Given the description of an element on the screen output the (x, y) to click on. 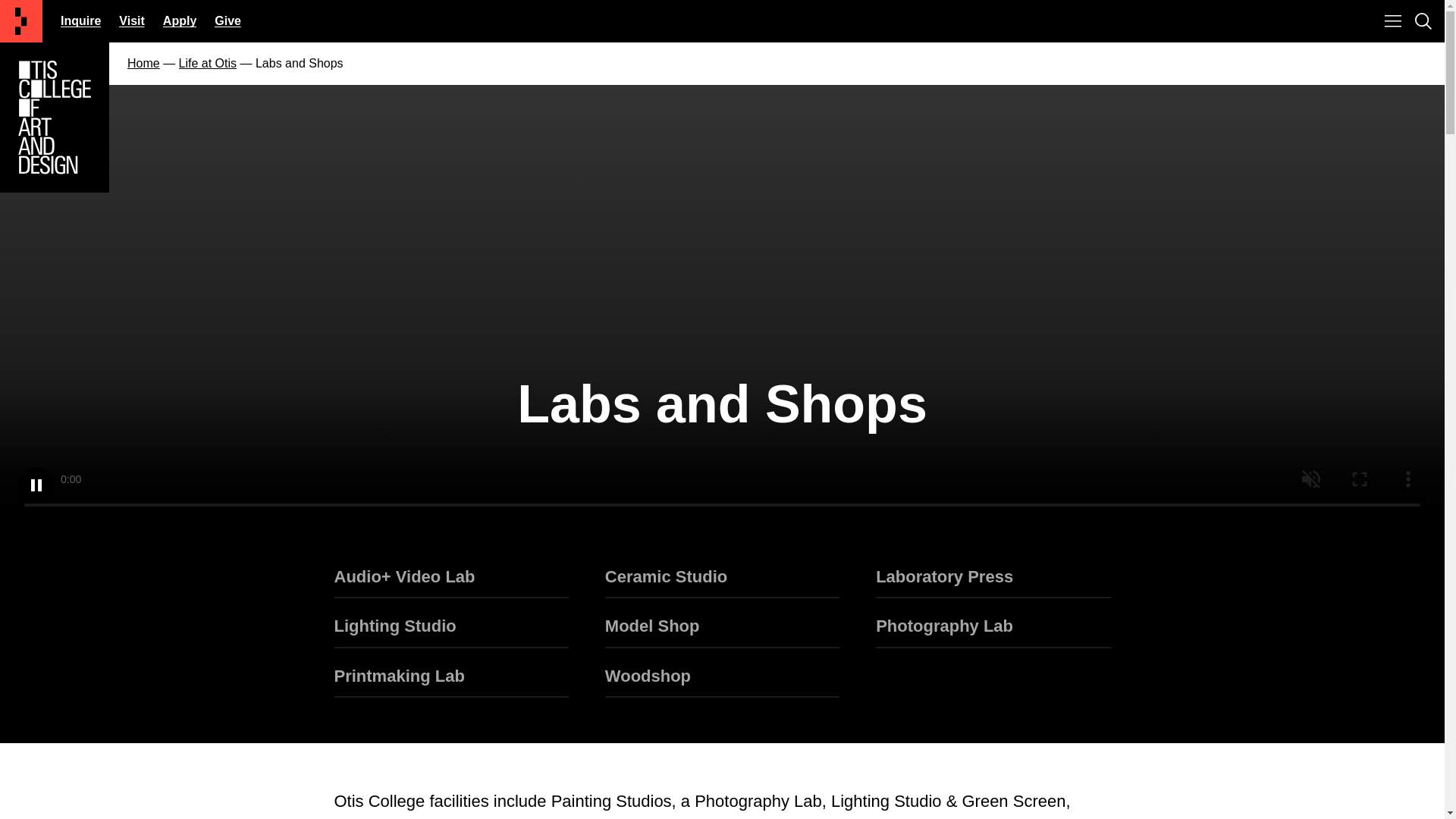
Ceramic Studio (722, 582)
Lighting Studio (450, 631)
Model Shop (722, 631)
Photography Lab (992, 631)
Skip to main content (721, 21)
Inquire (80, 20)
Give (227, 20)
Printmaking Lab (450, 681)
Life at Otis (207, 62)
Visit (131, 20)
Woodshop (722, 681)
Home (144, 62)
Laboratory Press (992, 582)
Apply (179, 20)
